Given the description of an element on the screen output the (x, y) to click on. 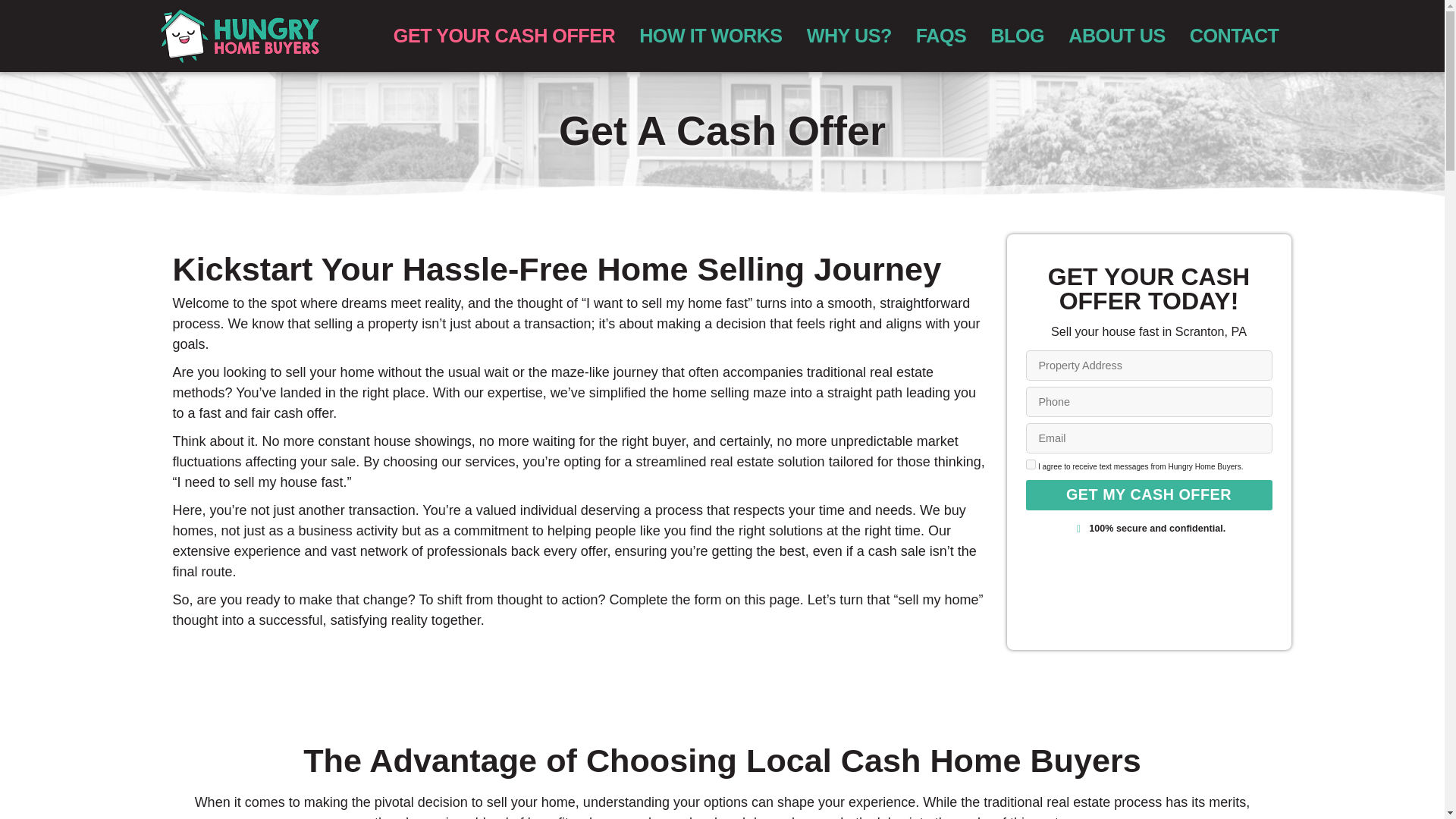
FAQS (941, 35)
I agree to receive text messages from Hungry Home Buyers. (1030, 464)
GET MY CASH OFFER (1148, 494)
CONTACT (1234, 35)
GET YOUR CASH OFFER (504, 35)
HOW IT WORKS (710, 35)
BLOG (1017, 35)
ABOUT US (1117, 35)
WHY US? (849, 35)
